Given the description of an element on the screen output the (x, y) to click on. 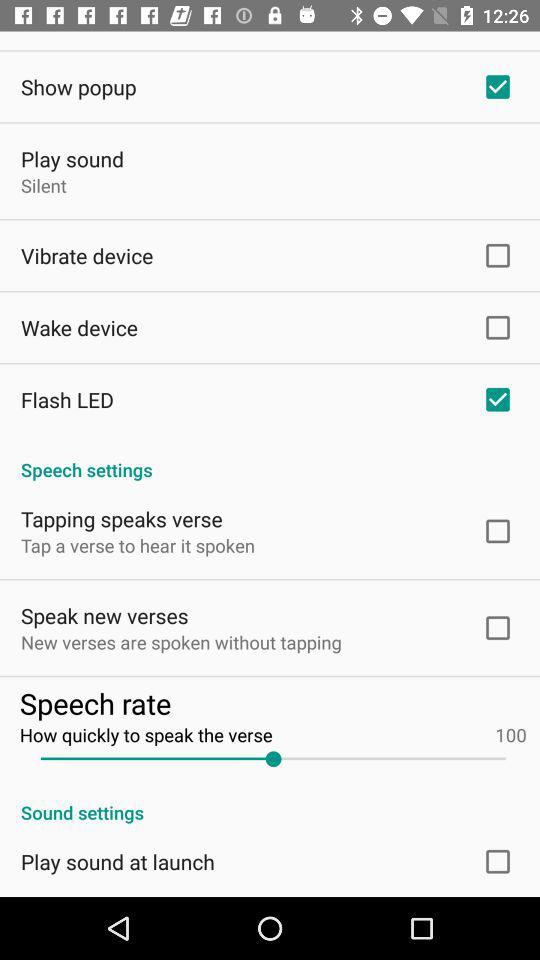
flip to the 100 app (510, 734)
